Given the description of an element on the screen output the (x, y) to click on. 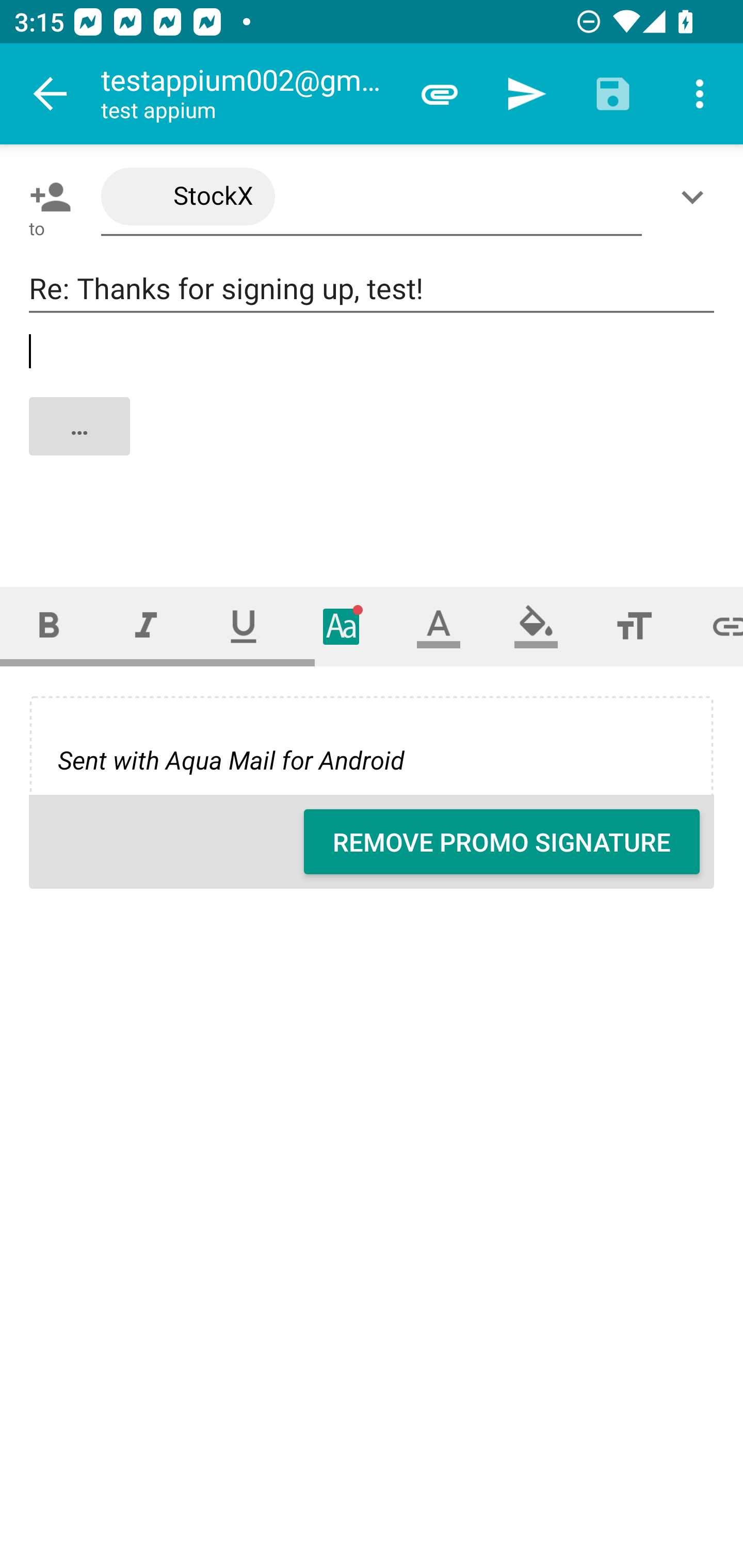
Navigate up (50, 93)
testappium002@gmail.com test appium (248, 93)
Attach (439, 93)
Send (525, 93)
Save (612, 93)
More options (699, 93)
StockX <noreply@stockx.com>,  (371, 197)
Pick contact: To (46, 196)
Show/Add CC/BCC (696, 196)
Re: Thanks for signing up, test! (371, 288)

…
 (372, 442)
Bold (48, 626)
Italic (145, 626)
Underline (243, 626)
Typeface (font) (341, 626)
Text color (438, 626)
Fill color (536, 626)
Font size (633, 626)
REMOVE PROMO SIGNATURE (501, 841)
